Given the description of an element on the screen output the (x, y) to click on. 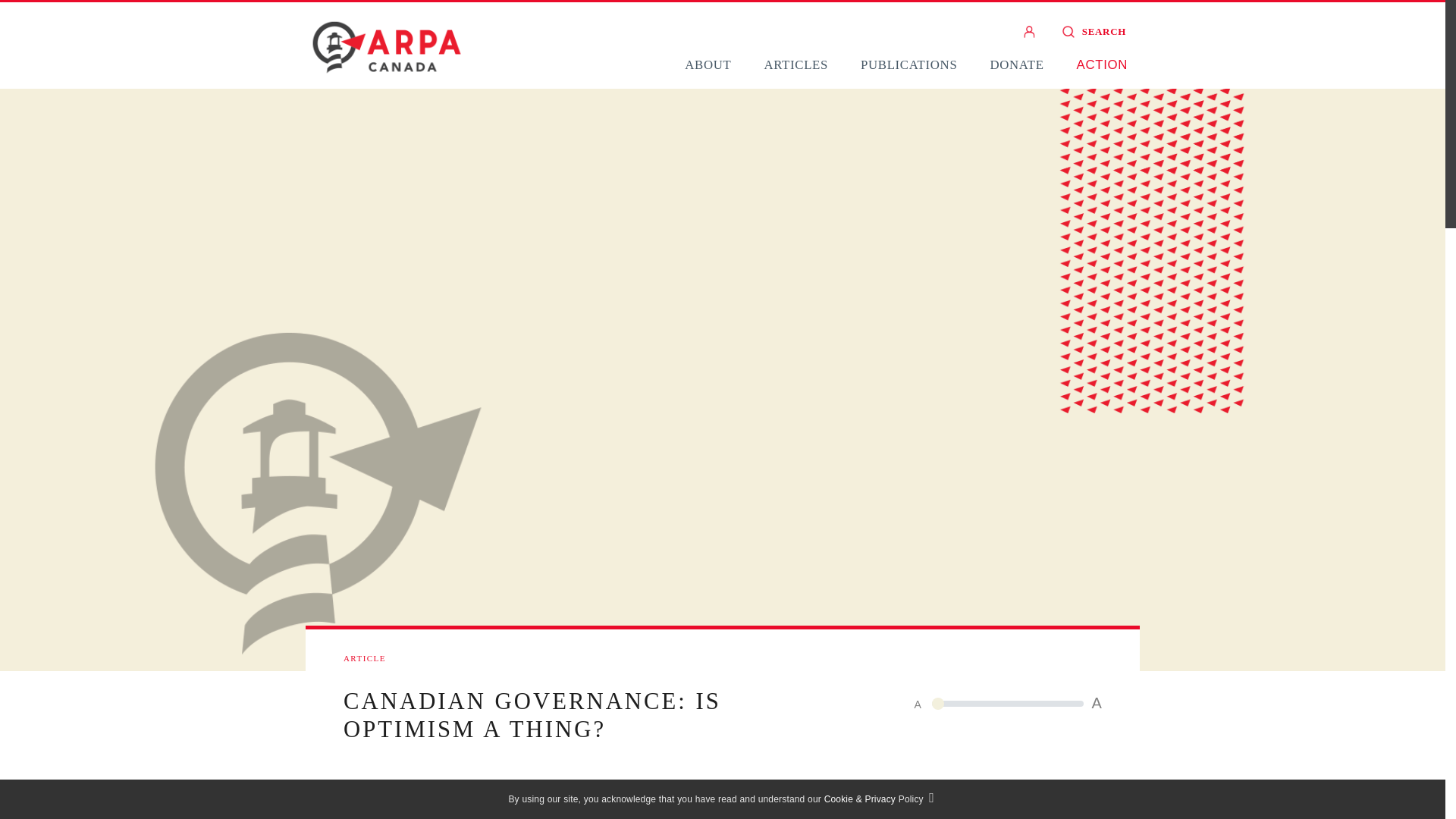
PUBLICATIONS (909, 64)
14 (1007, 703)
ABOUT (707, 64)
ARTICLES (795, 64)
ACTION (1101, 64)
DONATE (1016, 64)
